Given the description of an element on the screen output the (x, y) to click on. 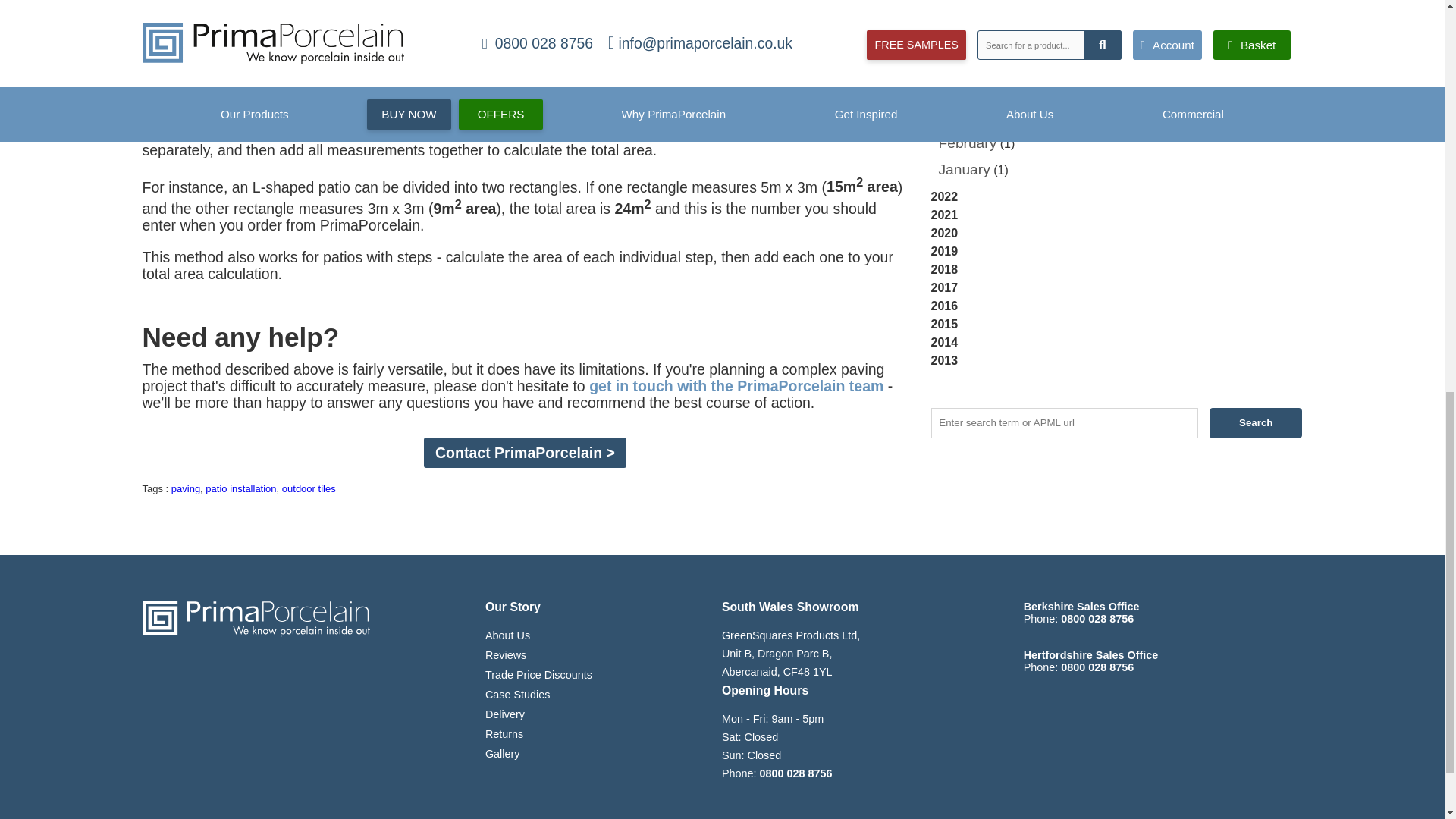
Search (1255, 422)
Enter search term or APML url (1064, 422)
